Given the description of an element on the screen output the (x, y) to click on. 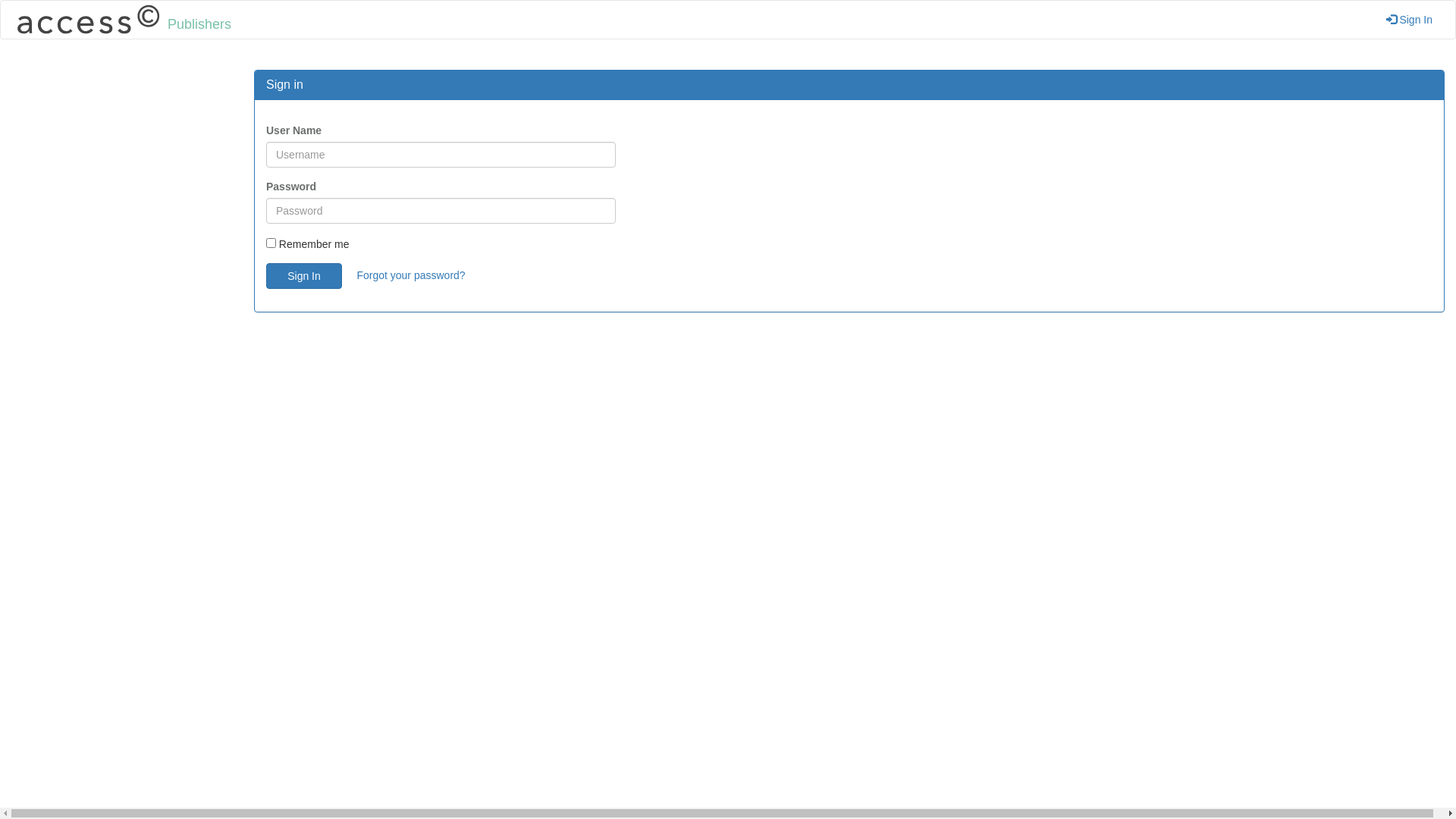
Sign In Element type: text (1408, 19)
Forgot your password? Element type: text (410, 274)
Publishers Element type: text (121, 19)
Sign In Element type: text (304, 275)
